Given the description of an element on the screen output the (x, y) to click on. 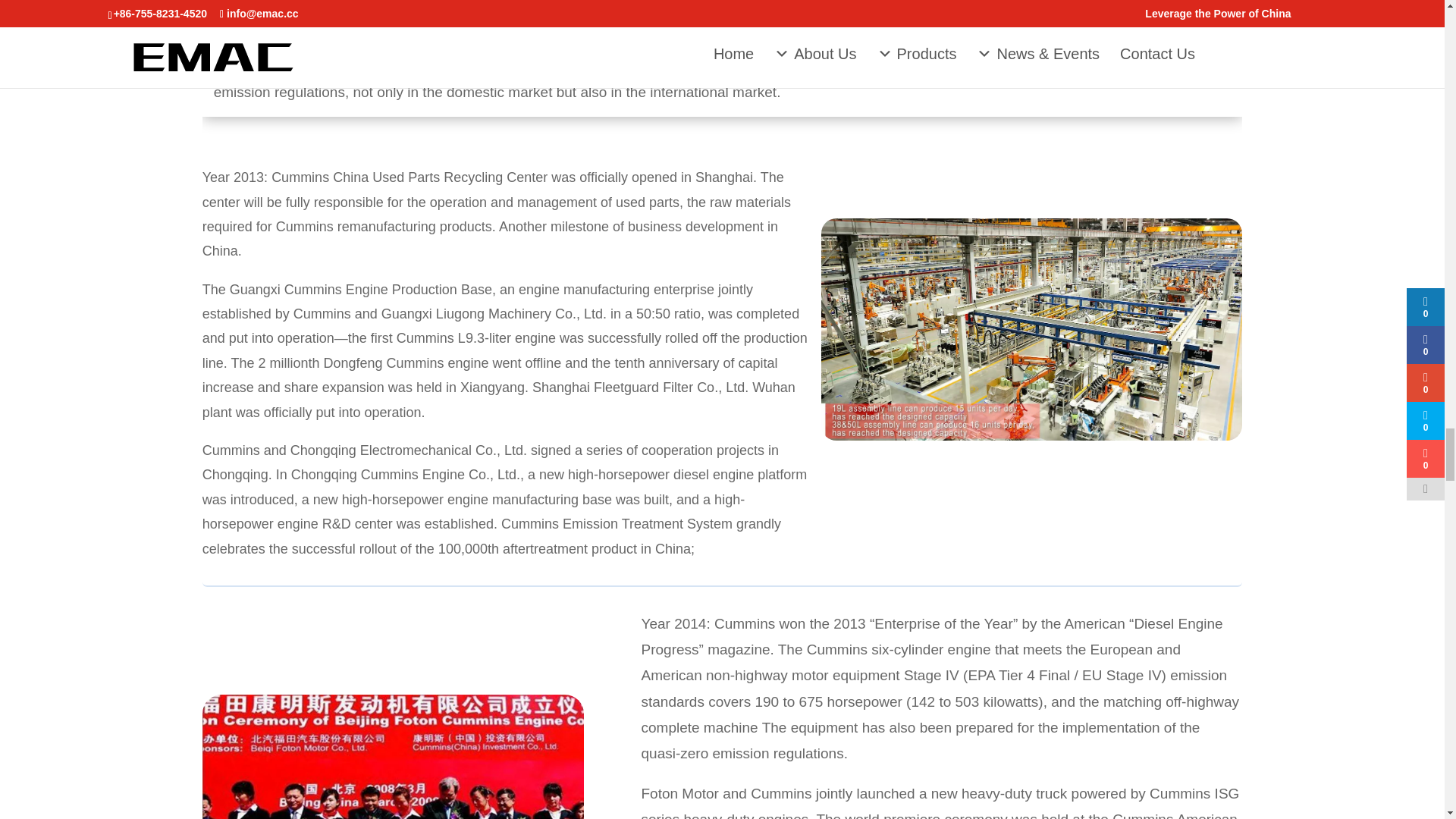
CCEC ENGINE PRODUCTION LINE-1300x687px (1031, 329)
